Given the description of an element on the screen output the (x, y) to click on. 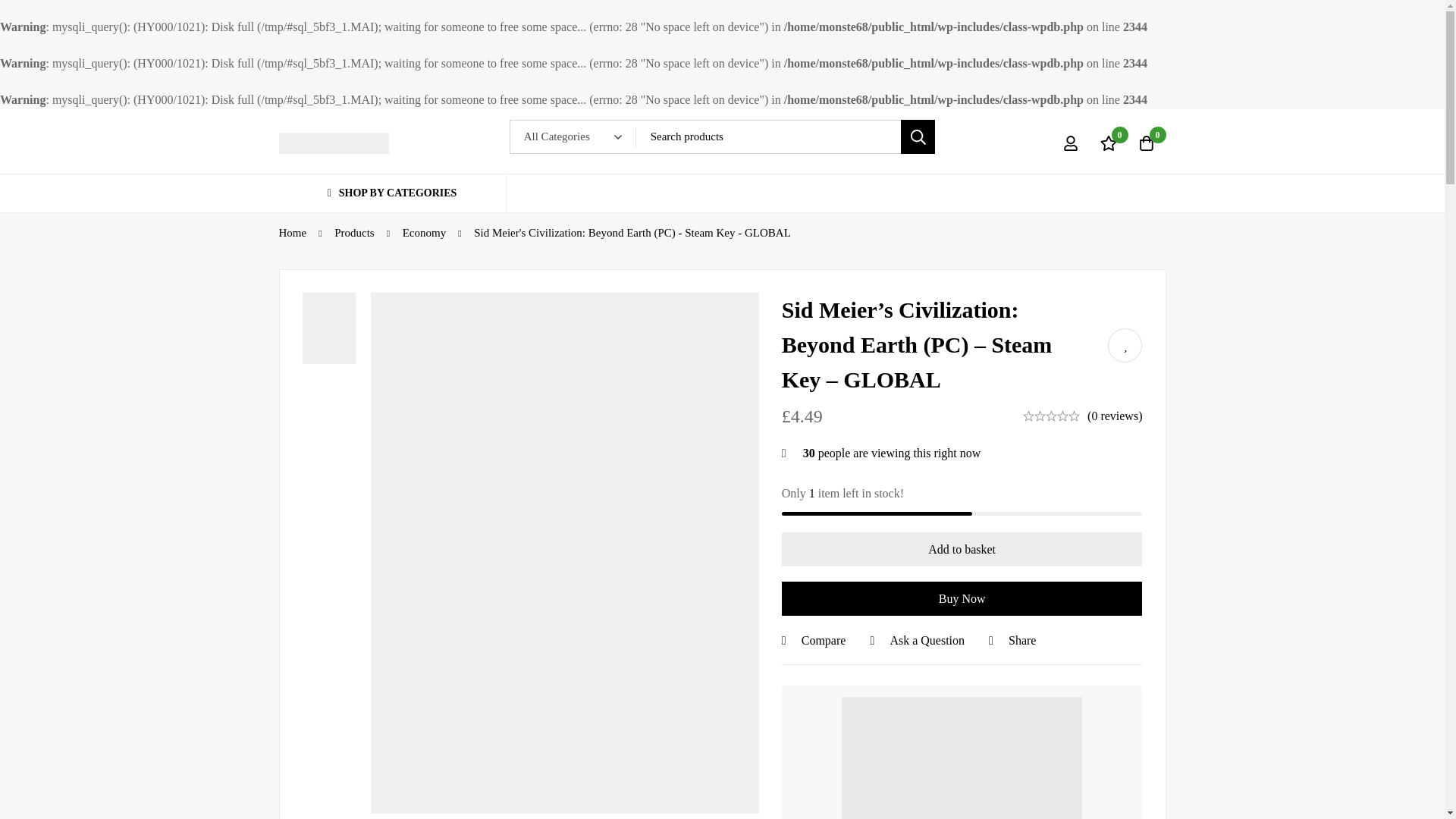
Ask a Question (916, 640)
Add to basket (961, 549)
Add To Wishlist (1124, 345)
0 (1145, 143)
Buy Now (961, 598)
Economy (424, 232)
Share (1011, 640)
0 (1107, 143)
Products (354, 232)
Search for: (786, 136)
